Given the description of an element on the screen output the (x, y) to click on. 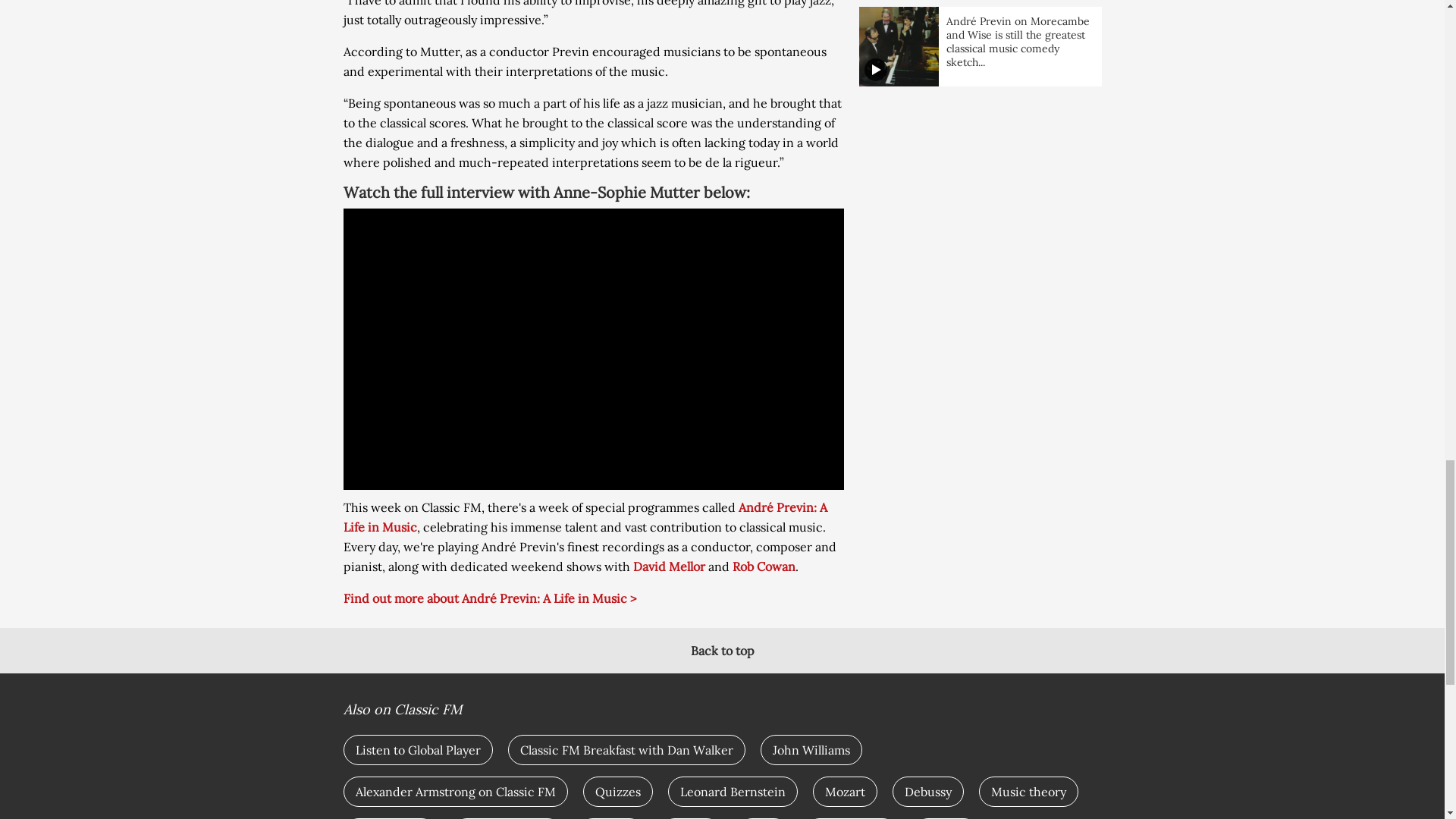
Back to top (722, 650)
David Mellor (667, 566)
Rob Cowan (763, 566)
